Given the description of an element on the screen output the (x, y) to click on. 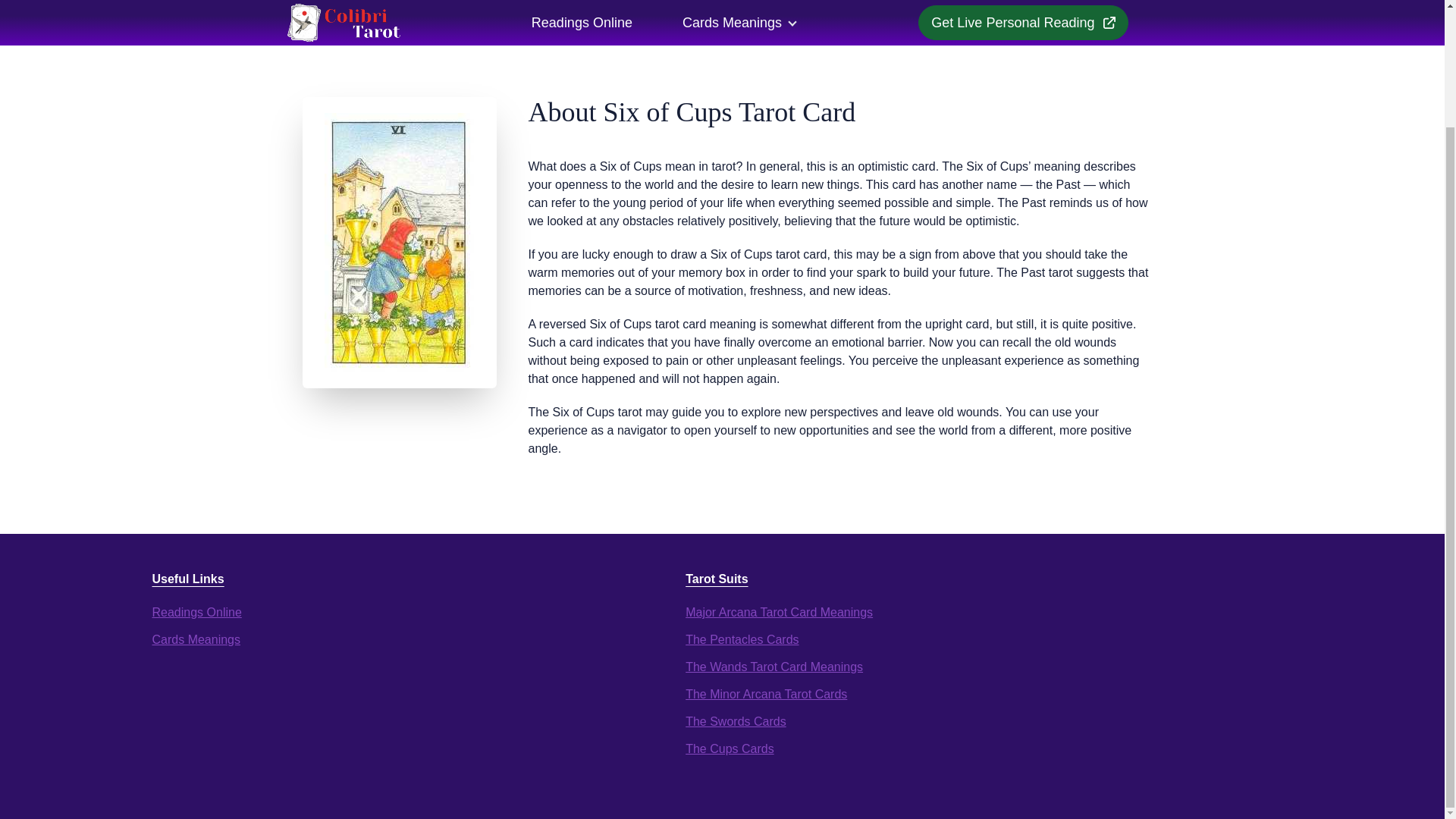
Cards Meanings (195, 639)
The Wands Tarot Card Meanings (774, 666)
The Swords Cards (735, 721)
The Minor Arcana Tarot Cards (766, 694)
Major Arcana Tarot Card Meanings (778, 612)
Readings Online (196, 612)
The Pentacles Cards (741, 639)
The Cups Cards (729, 748)
